Given the description of an element on the screen output the (x, y) to click on. 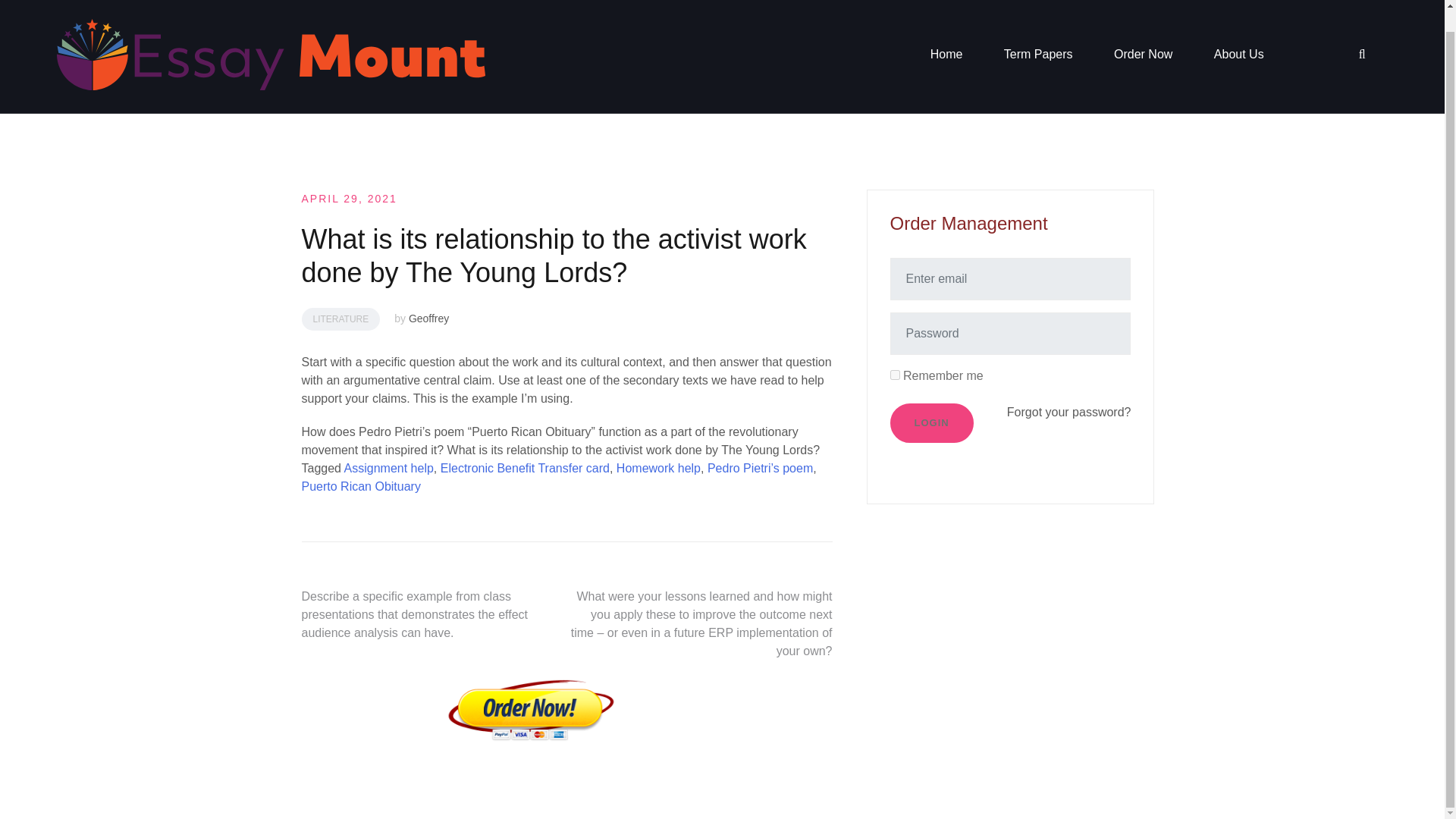
on (894, 375)
LITERATURE (340, 318)
LOGIN (931, 423)
Recover password (1069, 411)
Forgot your password? (1069, 411)
Homework help (657, 468)
Home (946, 54)
Assignment help (388, 468)
click to Login (931, 423)
